Given the description of an element on the screen output the (x, y) to click on. 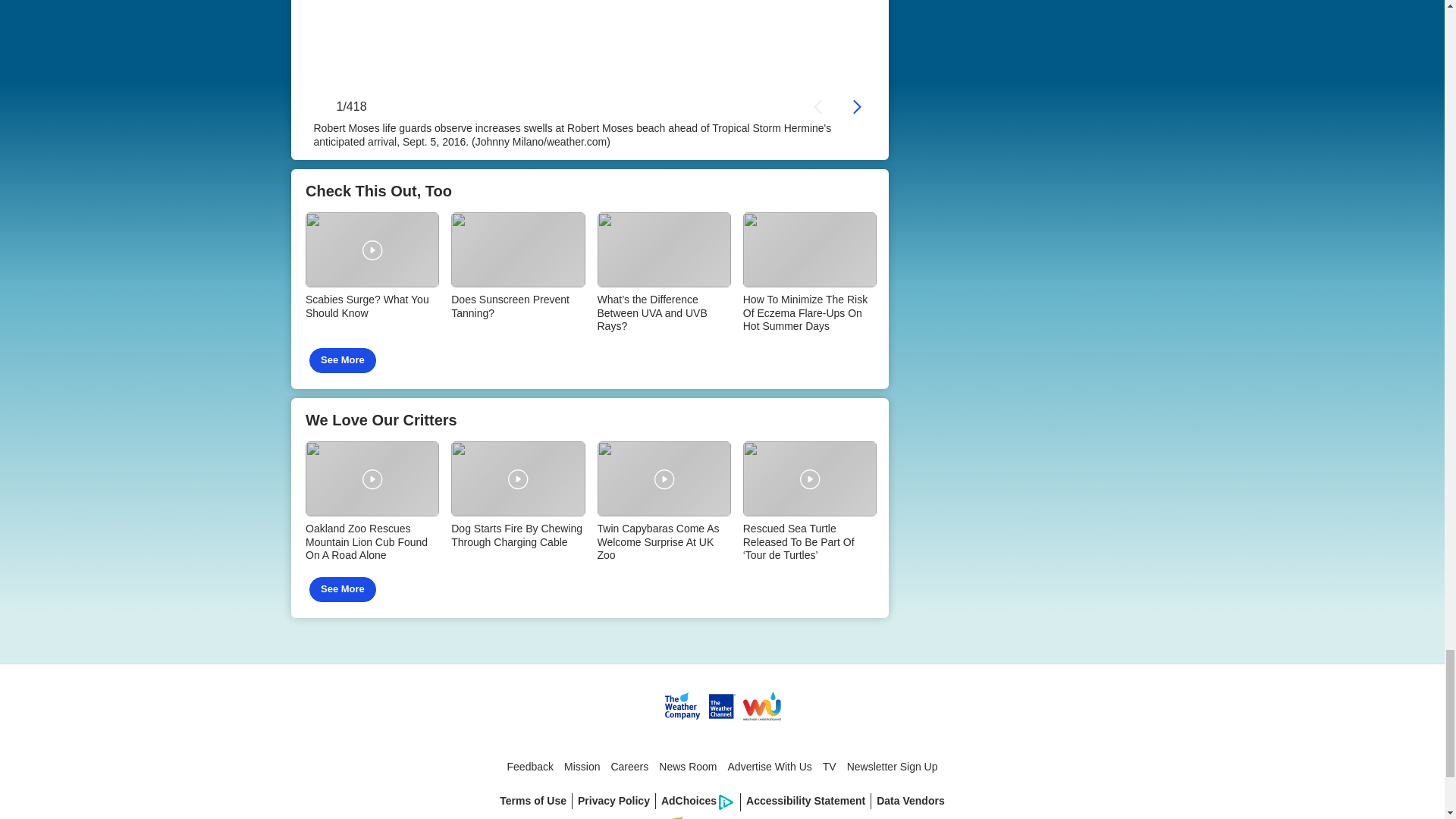
Arrow Right (856, 106)
We Love Our Critters (589, 508)
Check This Out, Too (589, 278)
Does Sunscreen Prevent Tanning? (518, 267)
See More (341, 360)
Scabies Surge? What You Should Know (371, 267)
Arrow Left (818, 106)
